Given the description of an element on the screen output the (x, y) to click on. 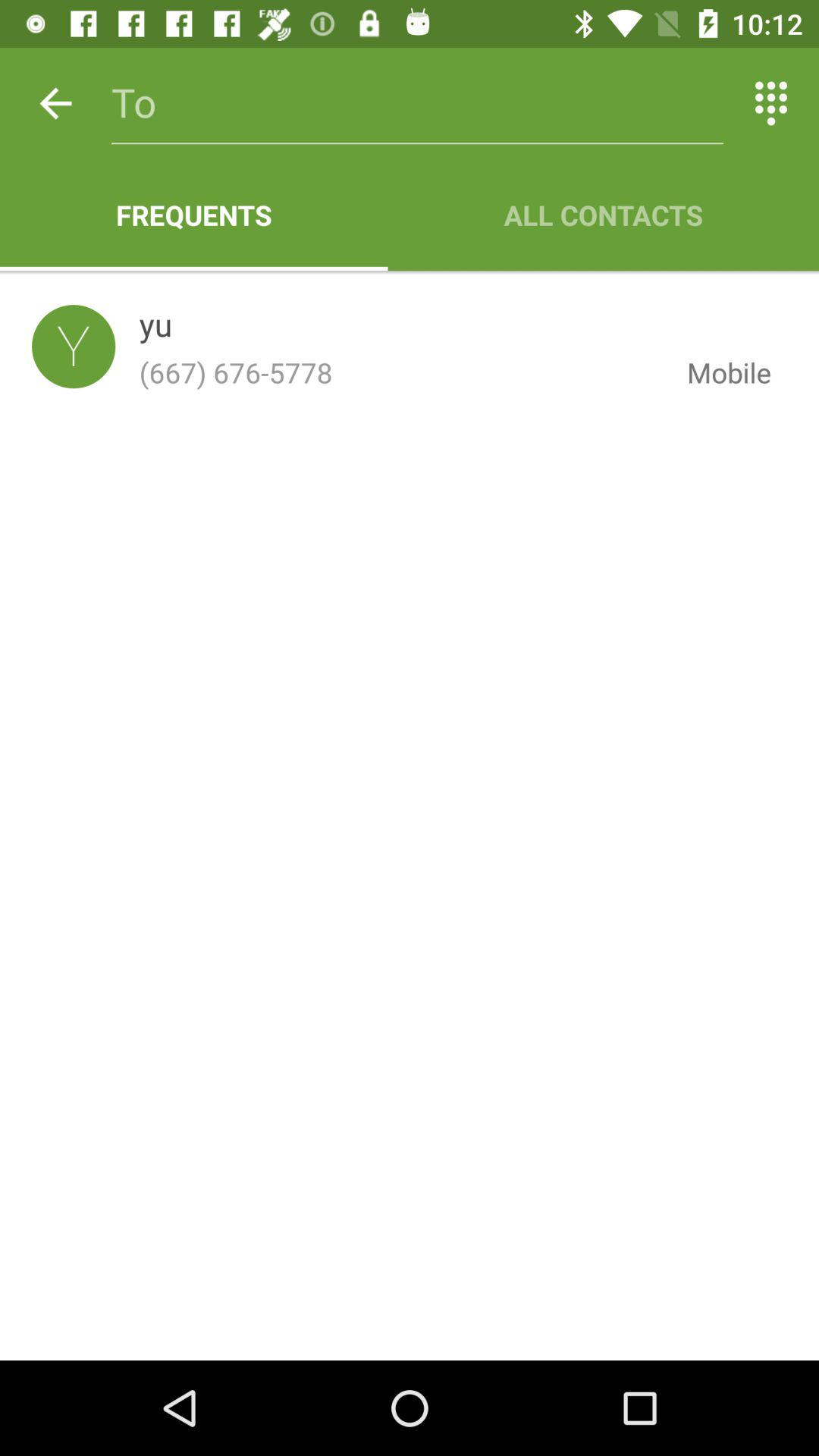
click the mobile (717, 372)
